Given the description of an element on the screen output the (x, y) to click on. 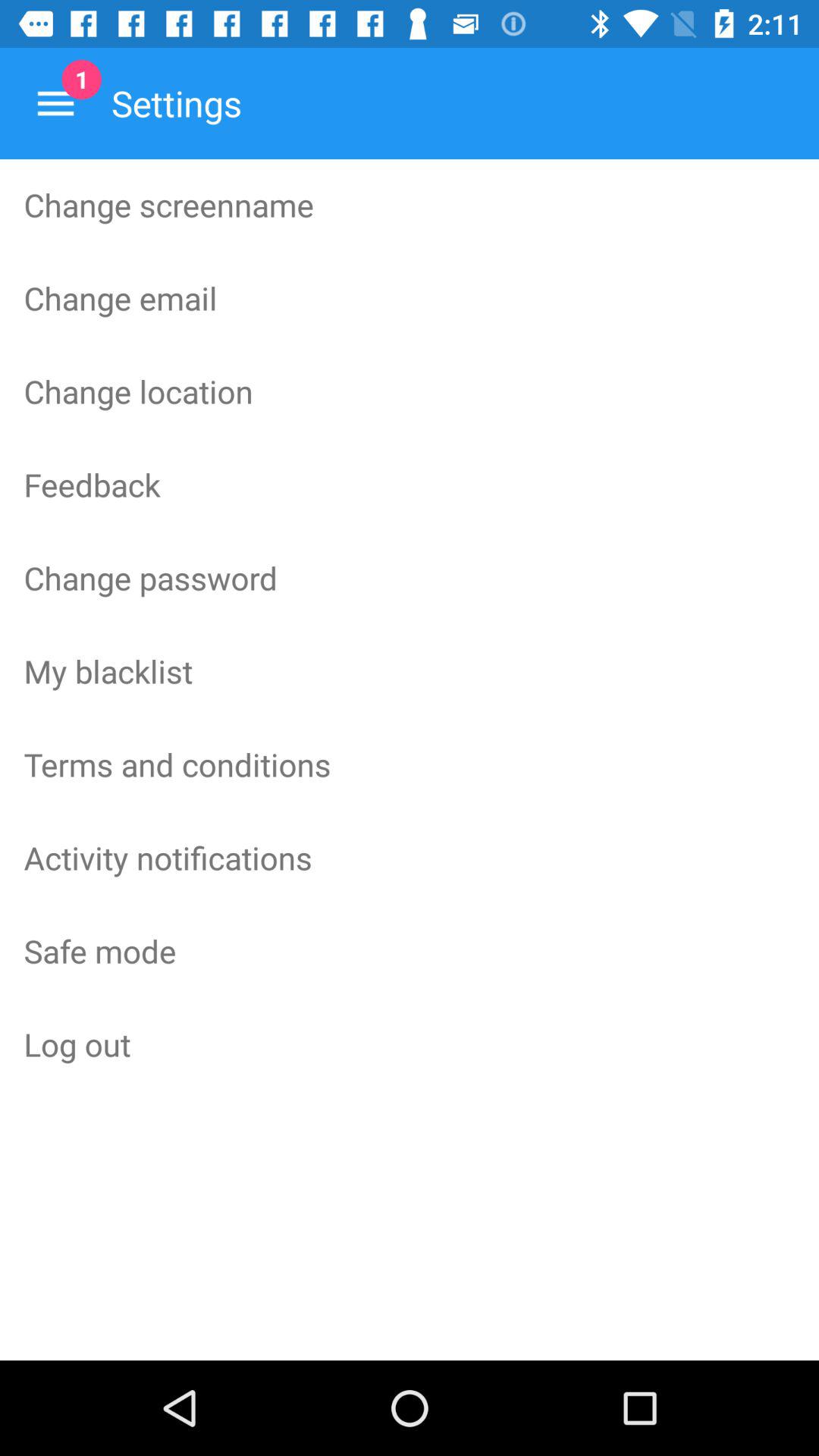
scroll to the change screenname (409, 204)
